Given the description of an element on the screen output the (x, y) to click on. 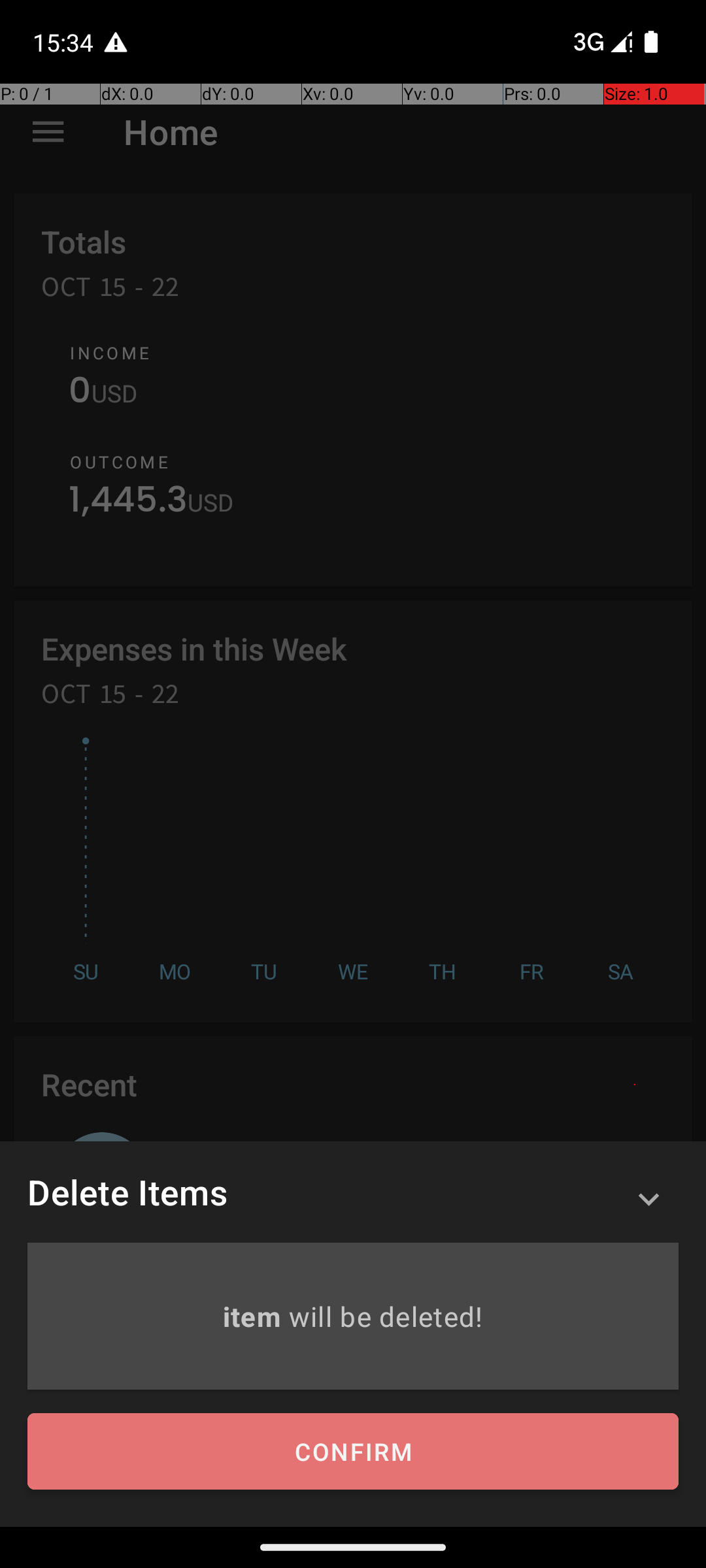
Delete Items Element type: android.widget.TextView (127, 1191)
item  Element type: android.widget.TextView (255, 1315)
will be deleted! Element type: android.widget.TextView (385, 1315)
CONFIRM Element type: android.widget.Button (352, 1451)
